Given the description of an element on the screen output the (x, y) to click on. 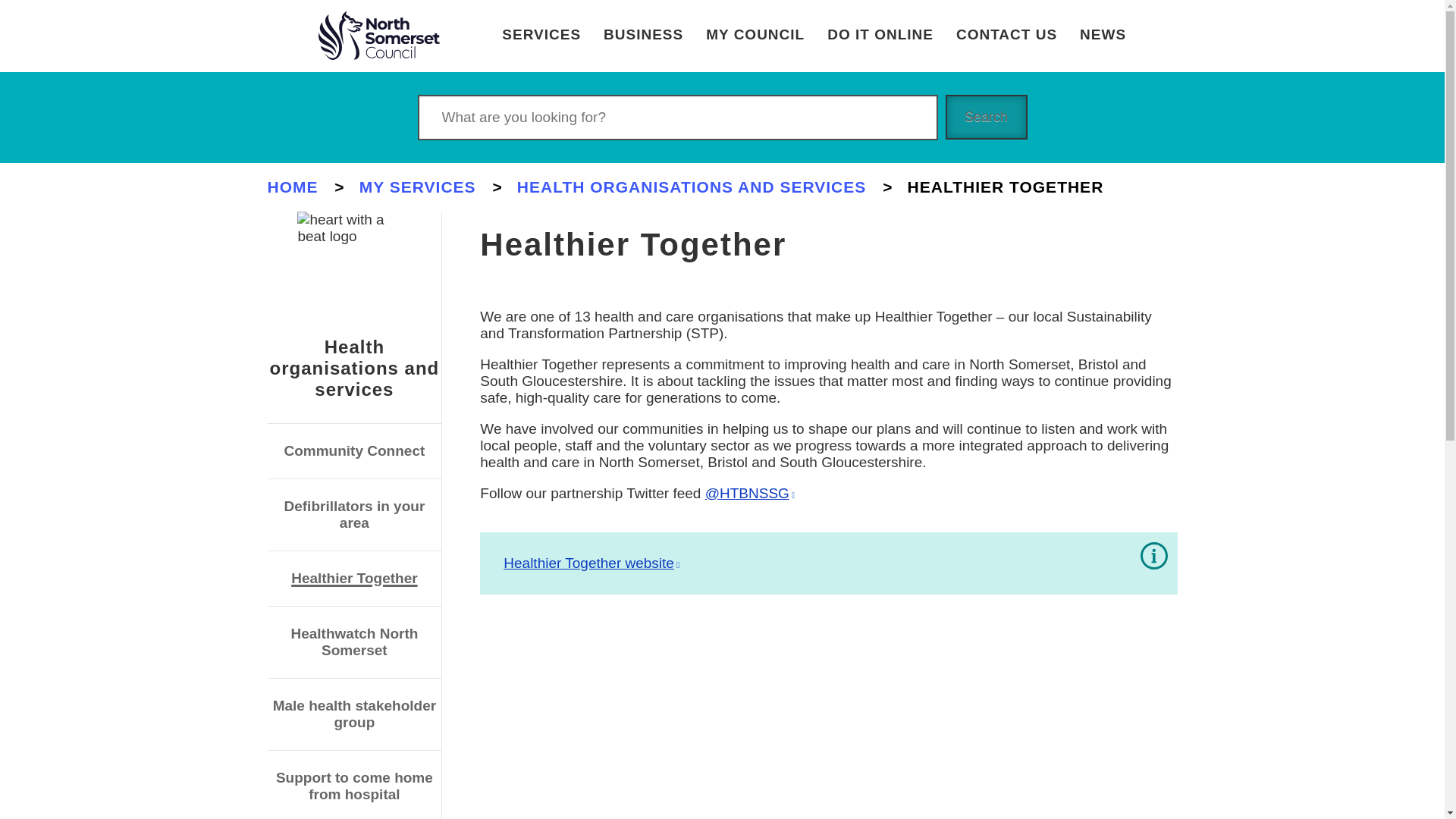
Healthier Together website (591, 562)
Healthwatch North Somerset (353, 641)
Healthier Together (353, 578)
Healthwatch North Somerset (353, 641)
Search (676, 117)
Community Connect (354, 450)
Healthier Together (353, 578)
Male health stakeholder group (354, 713)
Support to come home from hospital (354, 785)
